Given the description of an element on the screen output the (x, y) to click on. 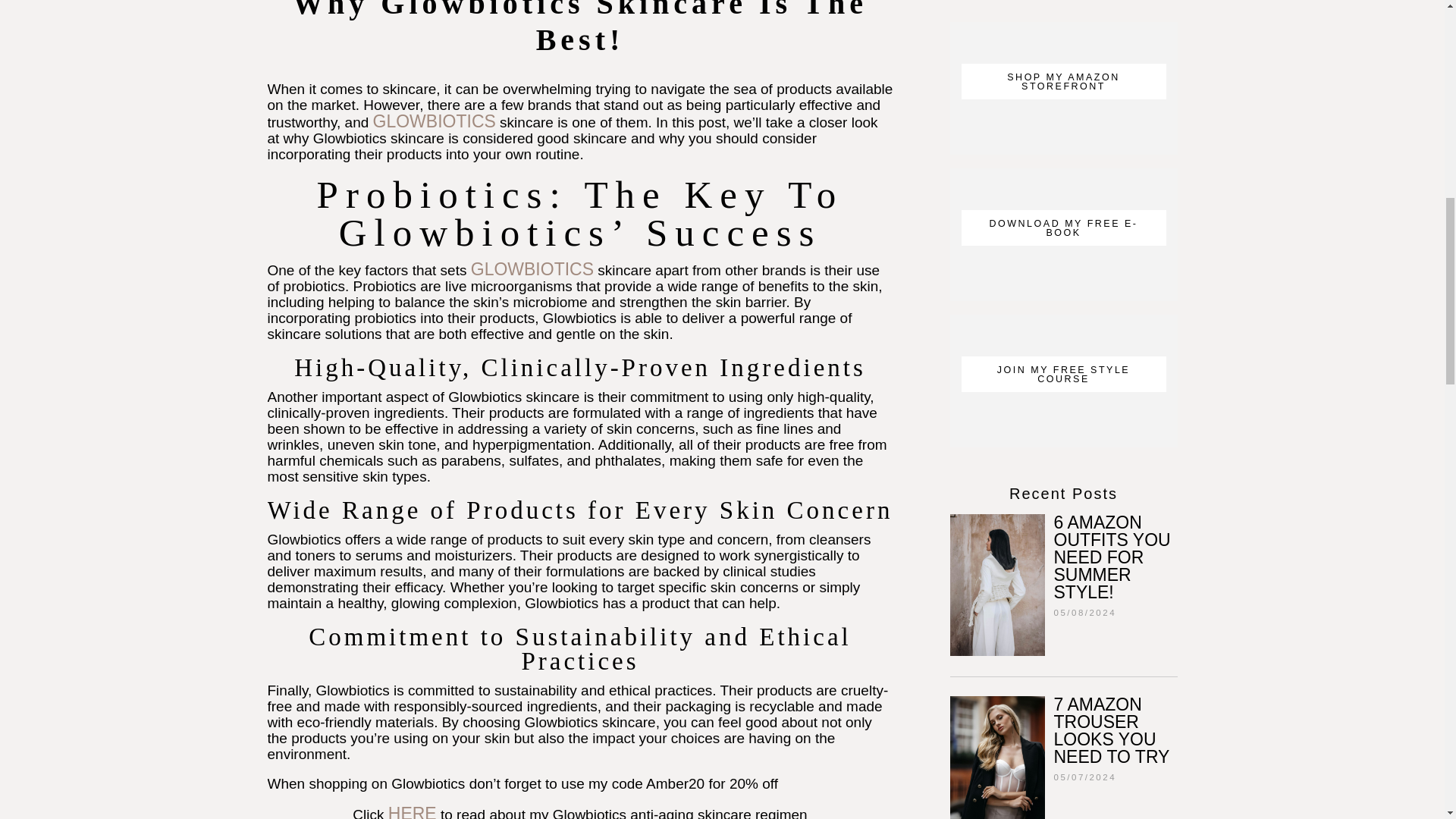
GLOWBIOTICS (434, 121)
GLOWBIOTICS (532, 269)
HERE (412, 811)
